Given the description of an element on the screen output the (x, y) to click on. 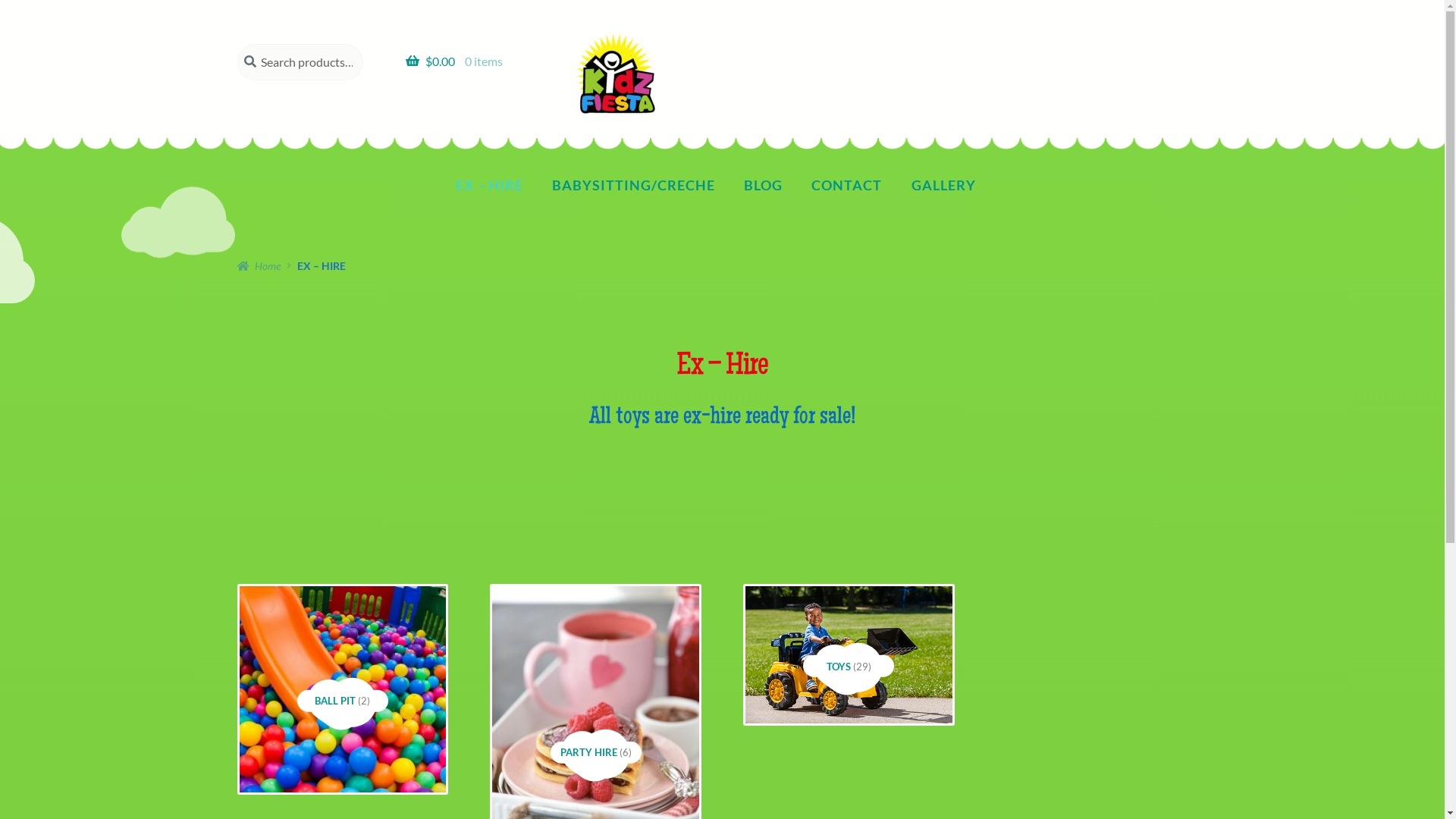
SEARCH Element type: text (236, 43)
$0.00 0 items Element type: text (468, 60)
BALL PIT (2) Element type: text (341, 700)
TOYS (29) Element type: text (848, 665)
CONTACT Element type: text (846, 185)
GALLERY Element type: text (942, 185)
Home Element type: text (258, 265)
BABYSITTING/CRECHE Element type: text (633, 185)
BLOG Element type: text (763, 185)
